Given the description of an element on the screen output the (x, y) to click on. 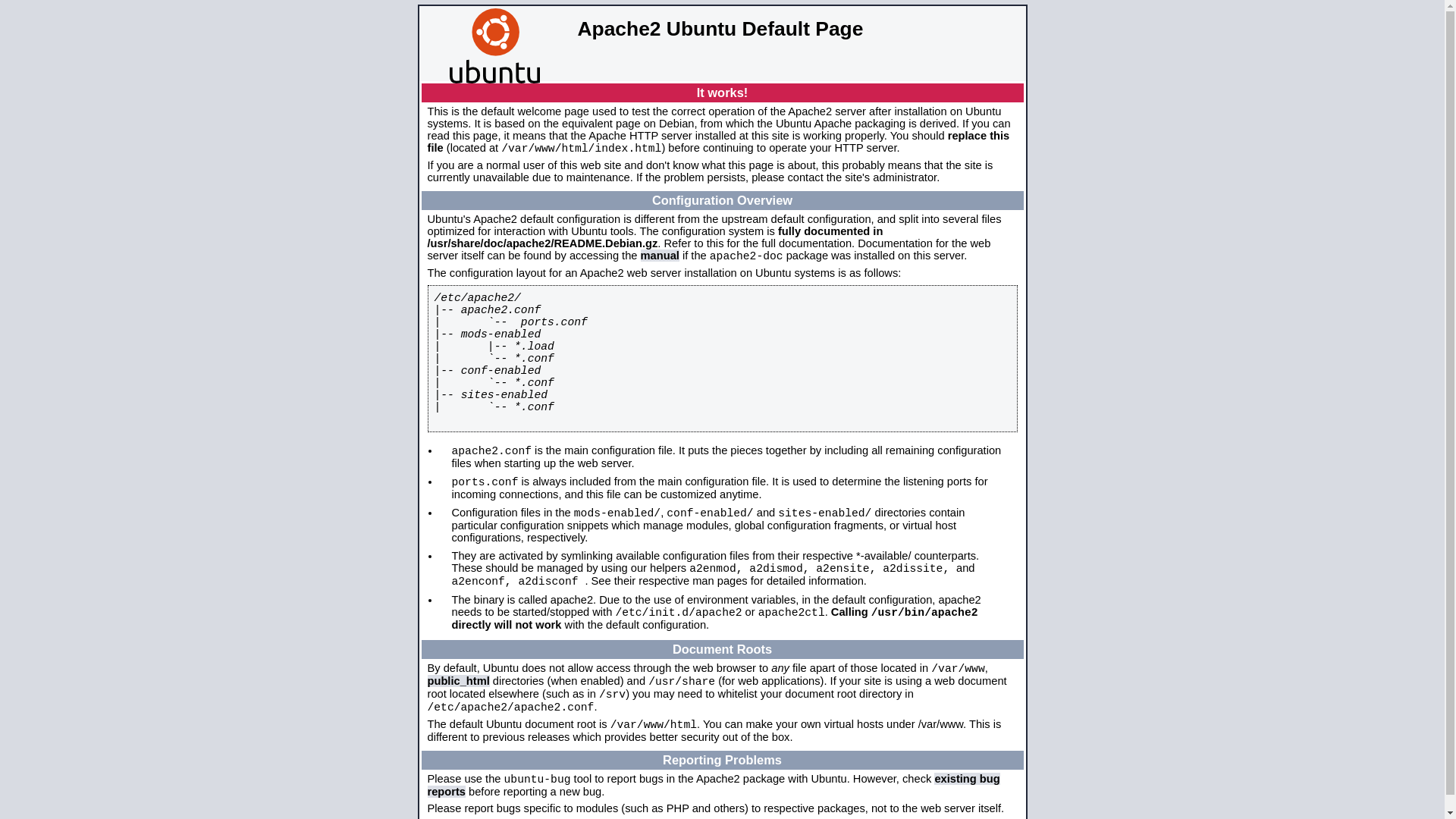
manual Element type: text (659, 255)
public_html Element type: text (458, 680)
existing bug reports Element type: text (713, 784)
